Given the description of an element on the screen output the (x, y) to click on. 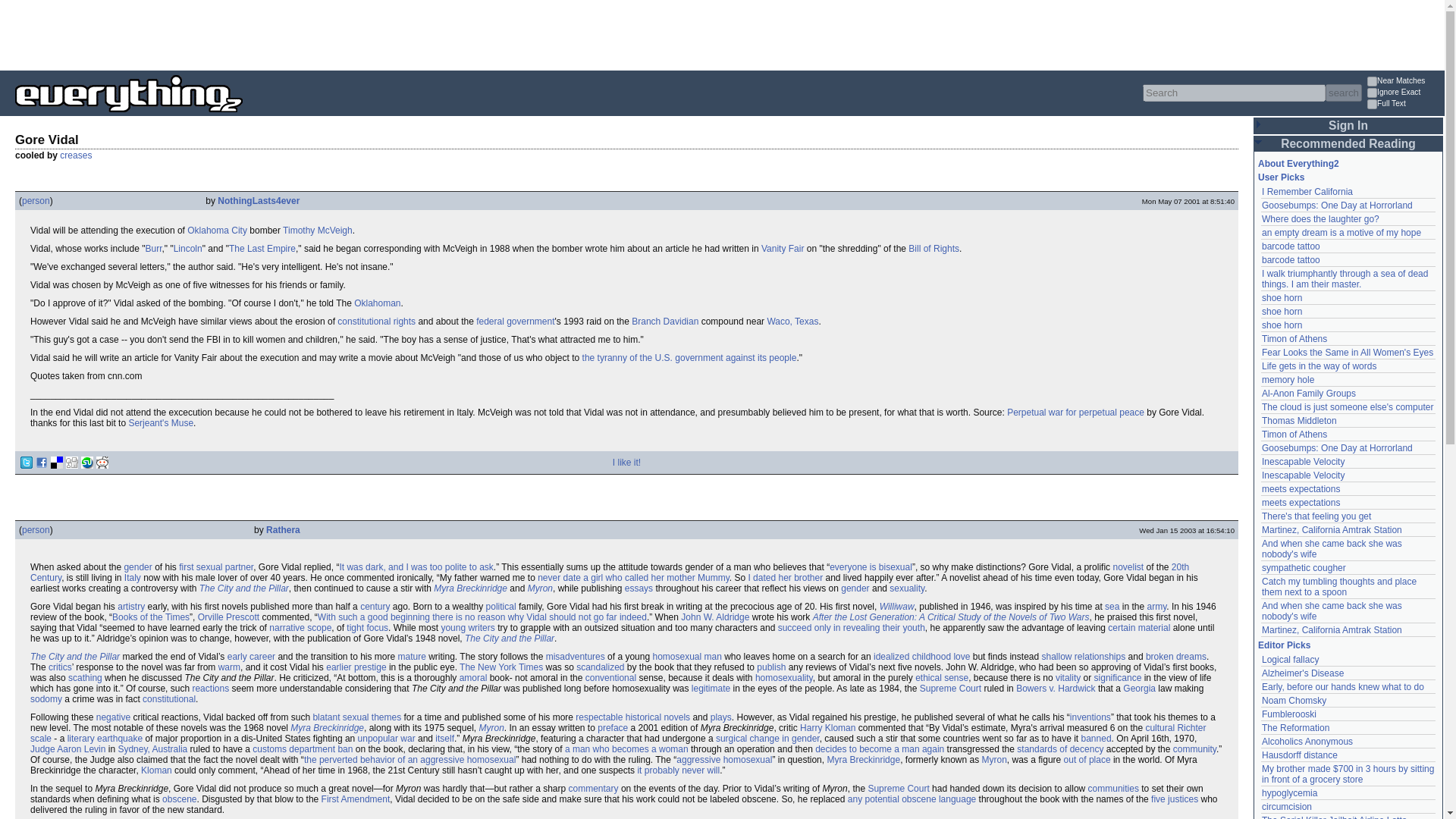
Vanity Fair (782, 248)
first sexual partner (216, 566)
Vanity Fair (782, 248)
Burr (152, 248)
Branch Davidian (664, 321)
gender (137, 566)
NothingLasts4ever (257, 200)
Bill of Rights (933, 248)
Oklahoma City (217, 230)
Italy (132, 577)
